Given the description of an element on the screen output the (x, y) to click on. 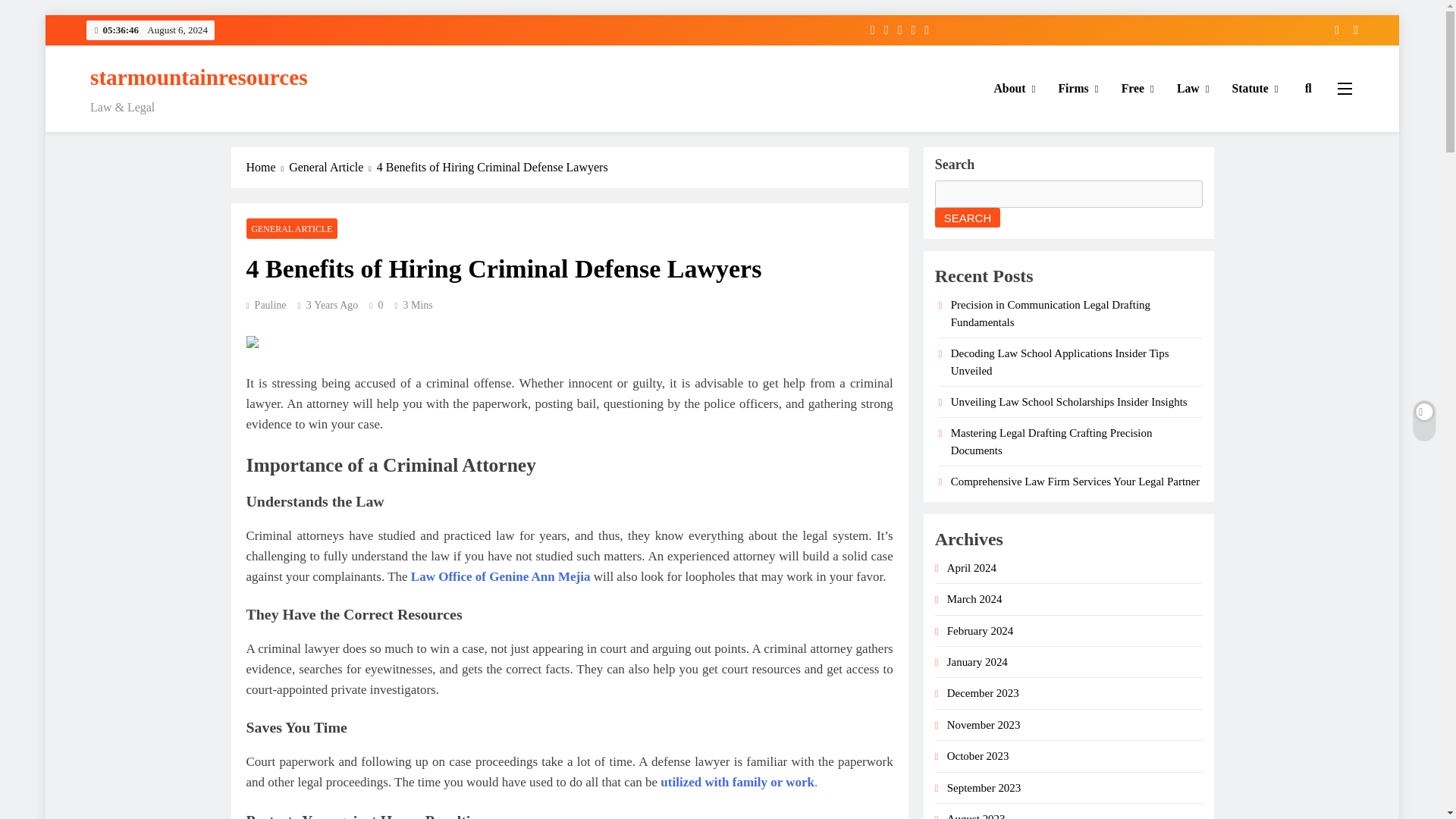
Statute (1255, 88)
Firms (1077, 88)
Free (1137, 88)
starmountainresources (198, 77)
Law (1193, 88)
About (1014, 88)
